Given the description of an element on the screen output the (x, y) to click on. 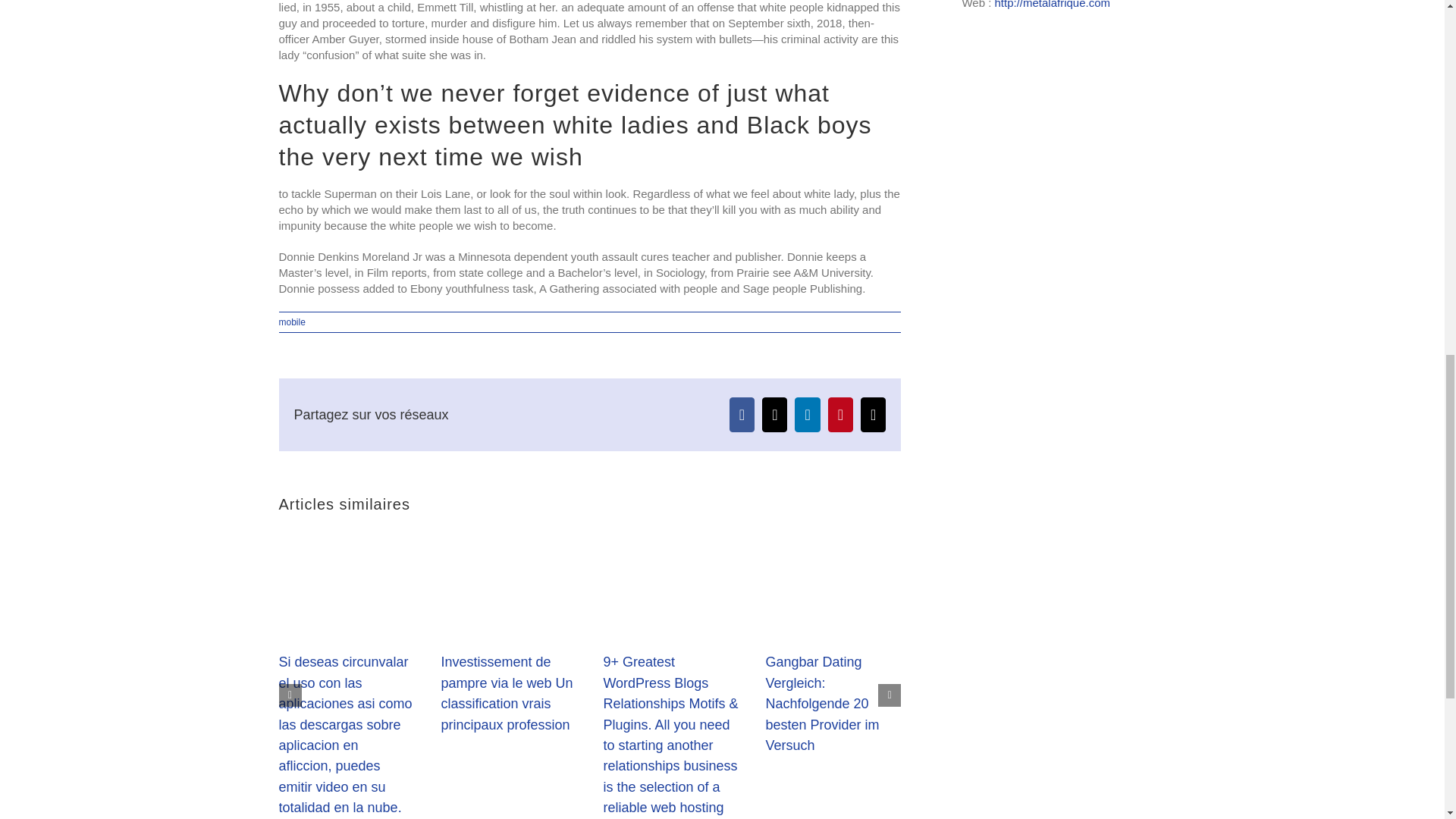
mobile (292, 321)
